Given the description of an element on the screen output the (x, y) to click on. 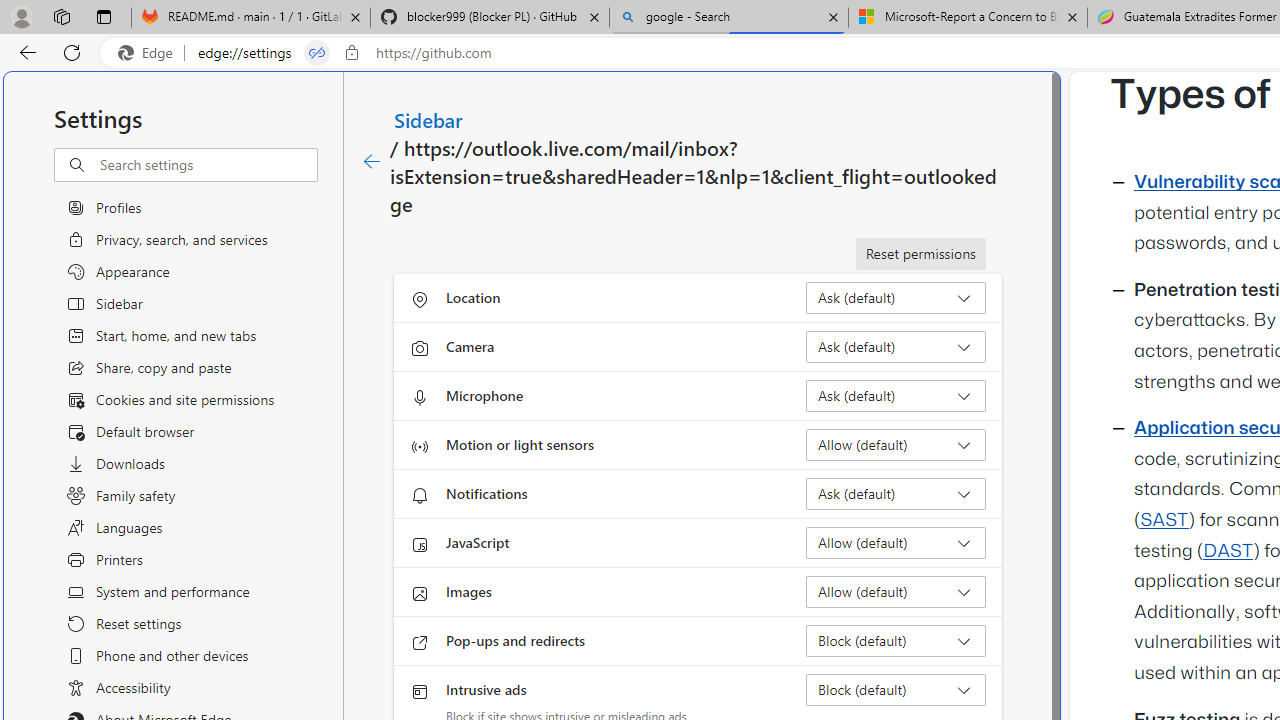
Notifications Ask (default) (895, 493)
Location Ask (default) (895, 297)
Personal Profile (21, 16)
Pop-ups and redirects Block (default) (895, 640)
Sidebar (429, 119)
Go back to Sidebar page. (372, 162)
Motion or light sensors Allow (default) (895, 444)
Microphone Ask (default) (895, 395)
google - Search (729, 17)
Microsoft-Report a Concern to Bing (967, 17)
Search settings (207, 165)
DAST (1228, 551)
